Given the description of an element on the screen output the (x, y) to click on. 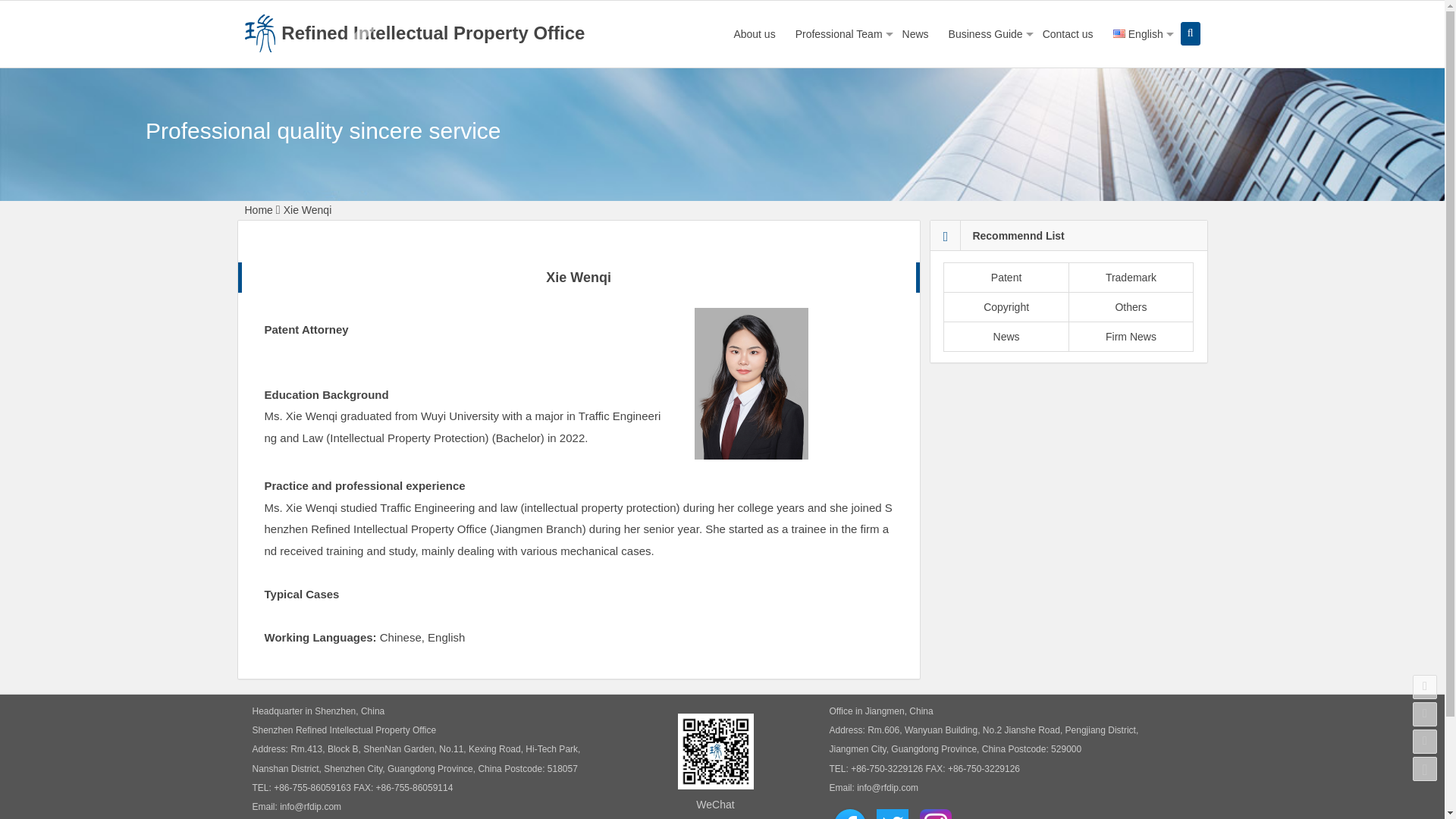
Home (258, 209)
Contact us (1067, 33)
About us (753, 33)
Business Guide (985, 33)
Professional Team (839, 33)
Refined Intellectual Property Office (414, 31)
English (1138, 33)
